Given the description of an element on the screen output the (x, y) to click on. 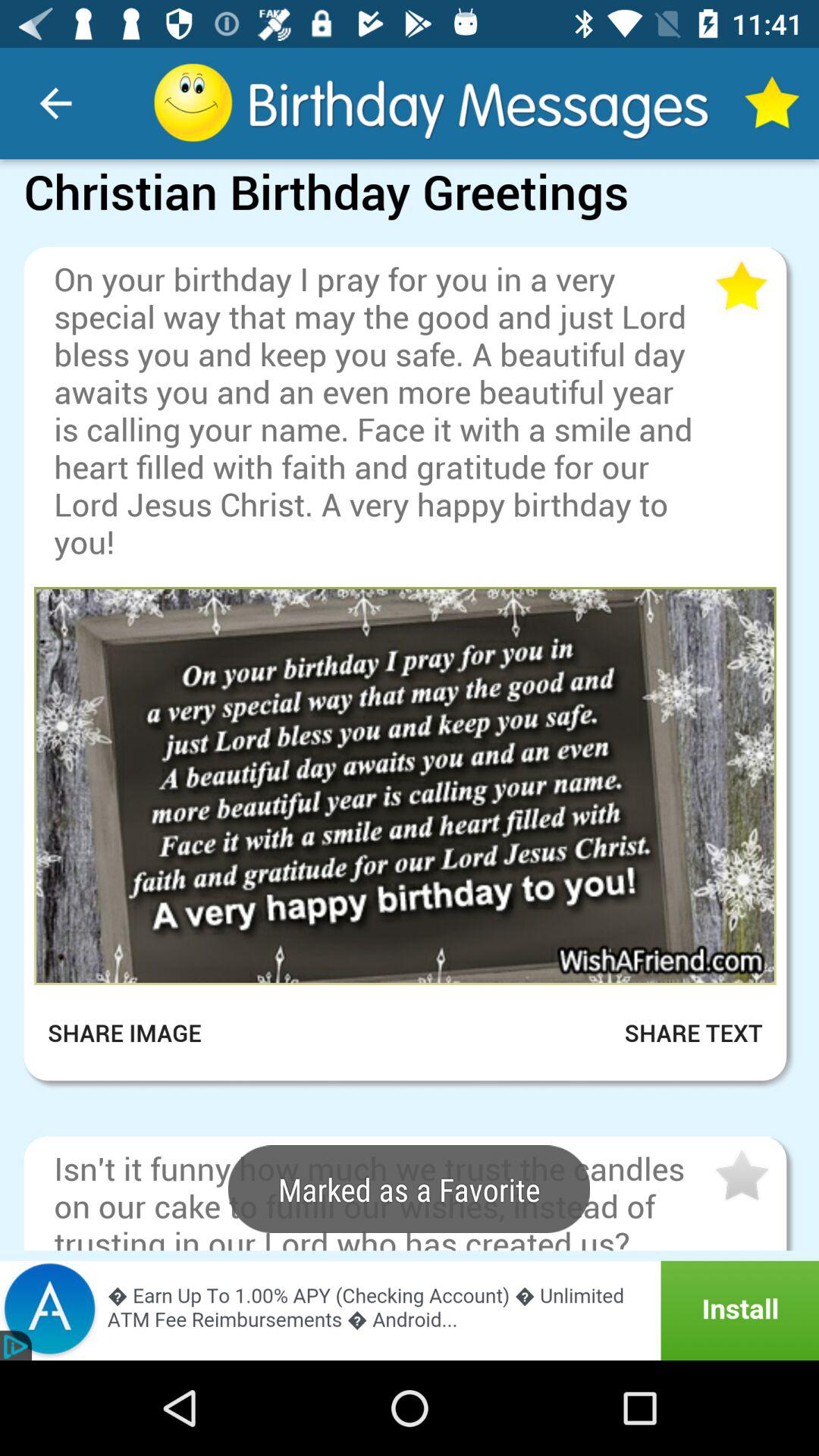
press the item at the center (405, 785)
